Given the description of an element on the screen output the (x, y) to click on. 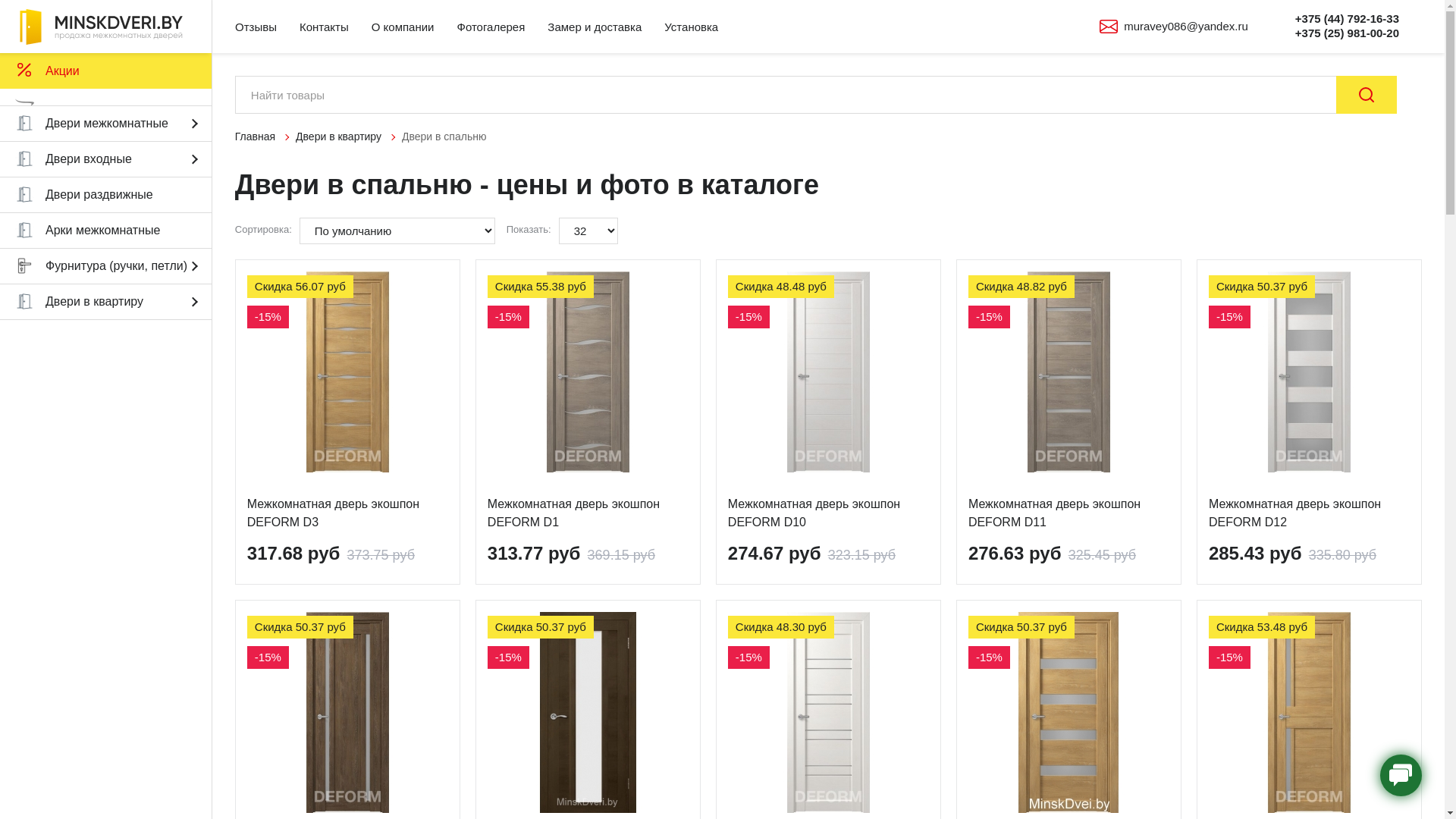
minskdveri.by Element type: hover (105, 26)
+375 (44) 792-16-33 Element type: text (1347, 18)
+375 (25) 981-00-20 Element type: text (1347, 32)
muravey086@yandex.ru Element type: text (1185, 25)
